Given the description of an element on the screen output the (x, y) to click on. 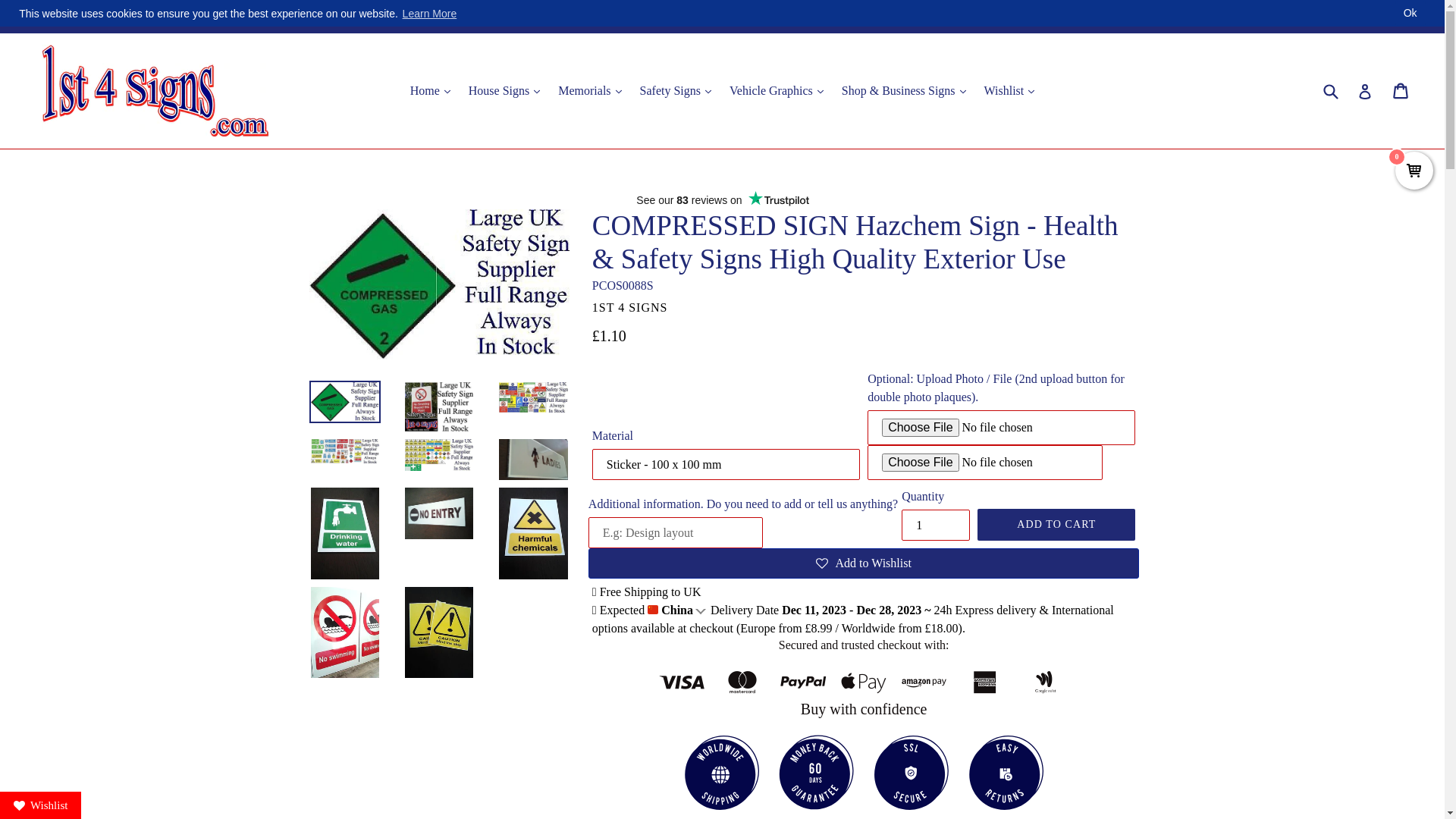
ADD TO CART Element type: text (1056, 524)
Submit Element type: text (1329, 90)
Deny Element type: hover (1390, 12)
Customer reviews powered by Trustpilot Element type: hover (722, 200)
Log in Element type: text (1364, 90)
Cart
Cart Element type: text (1401, 90)
Learn More Element type: text (429, 13)
